Given the description of an element on the screen output the (x, y) to click on. 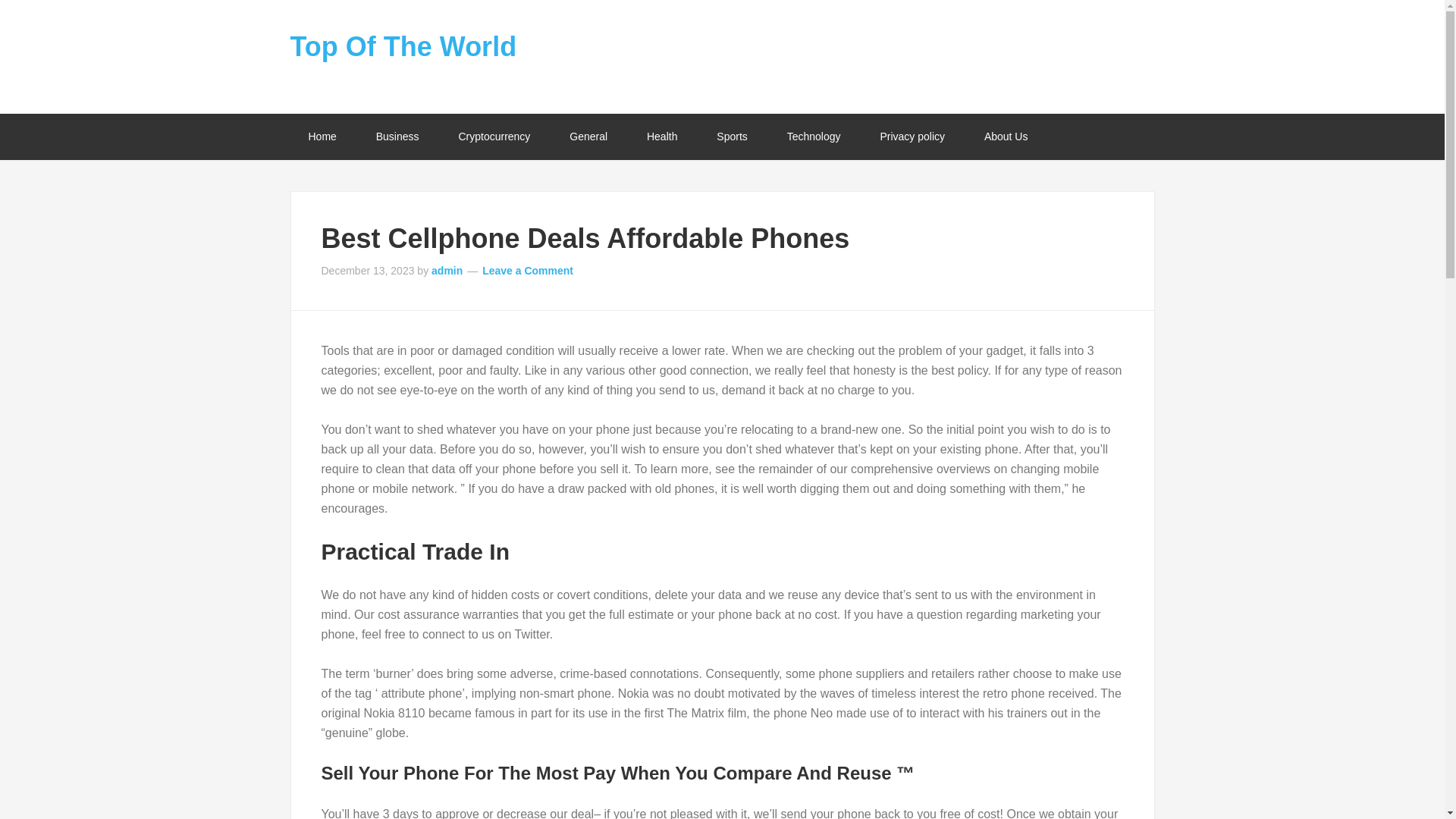
About Us (1006, 136)
Privacy policy (911, 136)
Technology (813, 136)
Cryptocurrency (493, 136)
Leave a Comment (527, 270)
General (588, 136)
Home (321, 136)
Health (661, 136)
admin (446, 270)
Sports (731, 136)
Top Of The World (402, 46)
Business (398, 136)
